Given the description of an element on the screen output the (x, y) to click on. 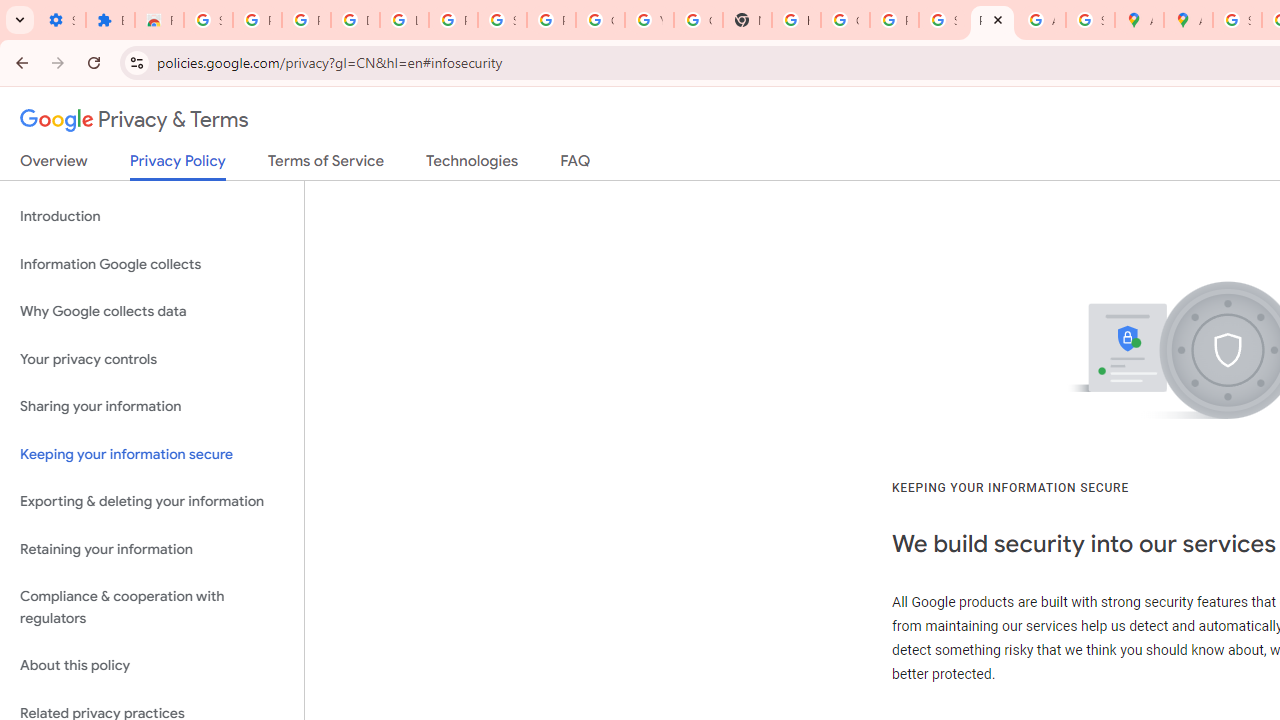
Retaining your information (152, 548)
New Tab (747, 20)
Safety in Our Products - Google Safety Center (1090, 20)
Exporting & deleting your information (152, 502)
Delete photos & videos - Computer - Google Photos Help (355, 20)
Information Google collects (152, 263)
Settings - On startup (61, 20)
Sign in - Google Accounts (502, 20)
